Given the description of an element on the screen output the (x, y) to click on. 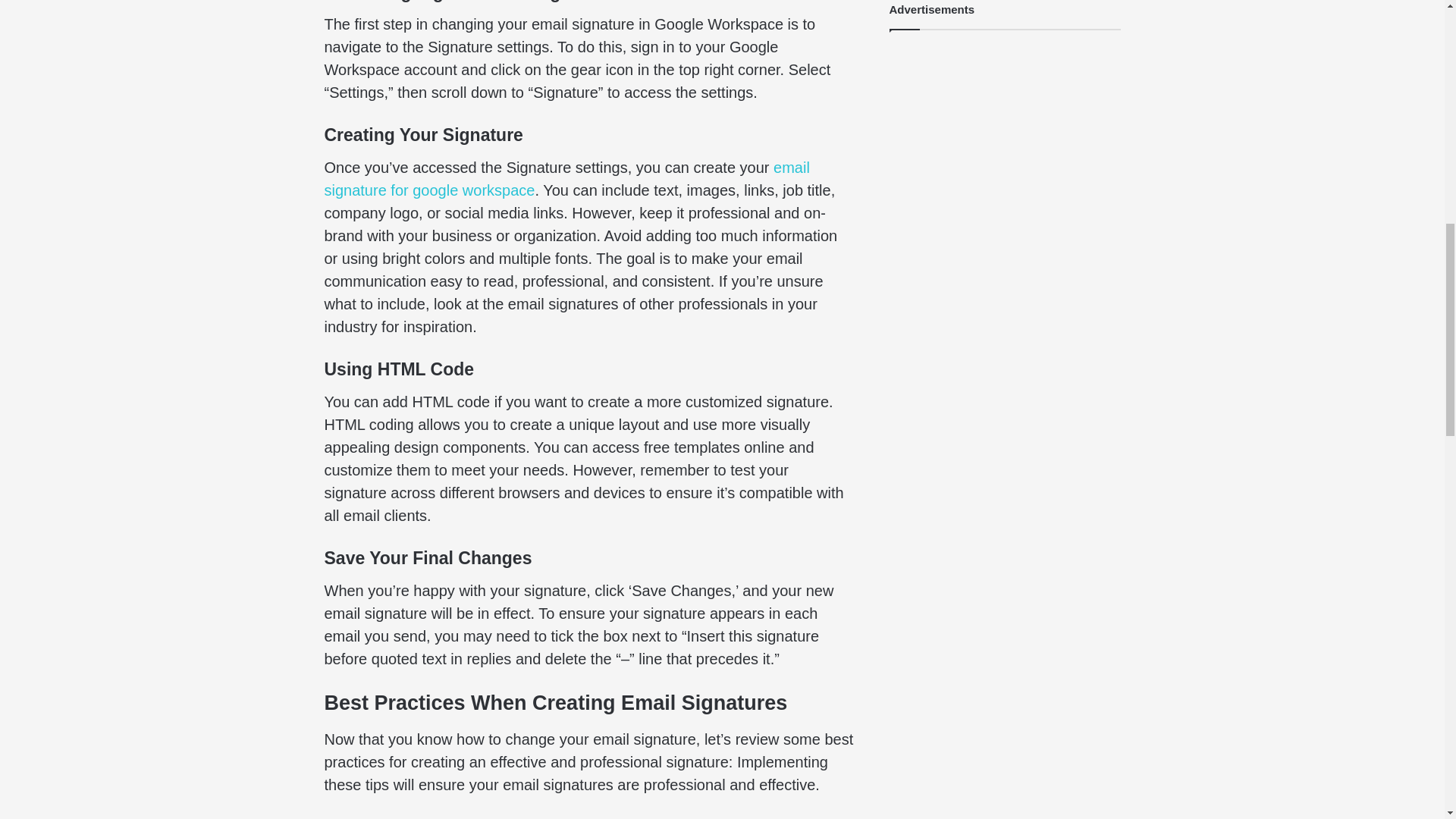
email signature for google workspace (566, 178)
